Given the description of an element on the screen output the (x, y) to click on. 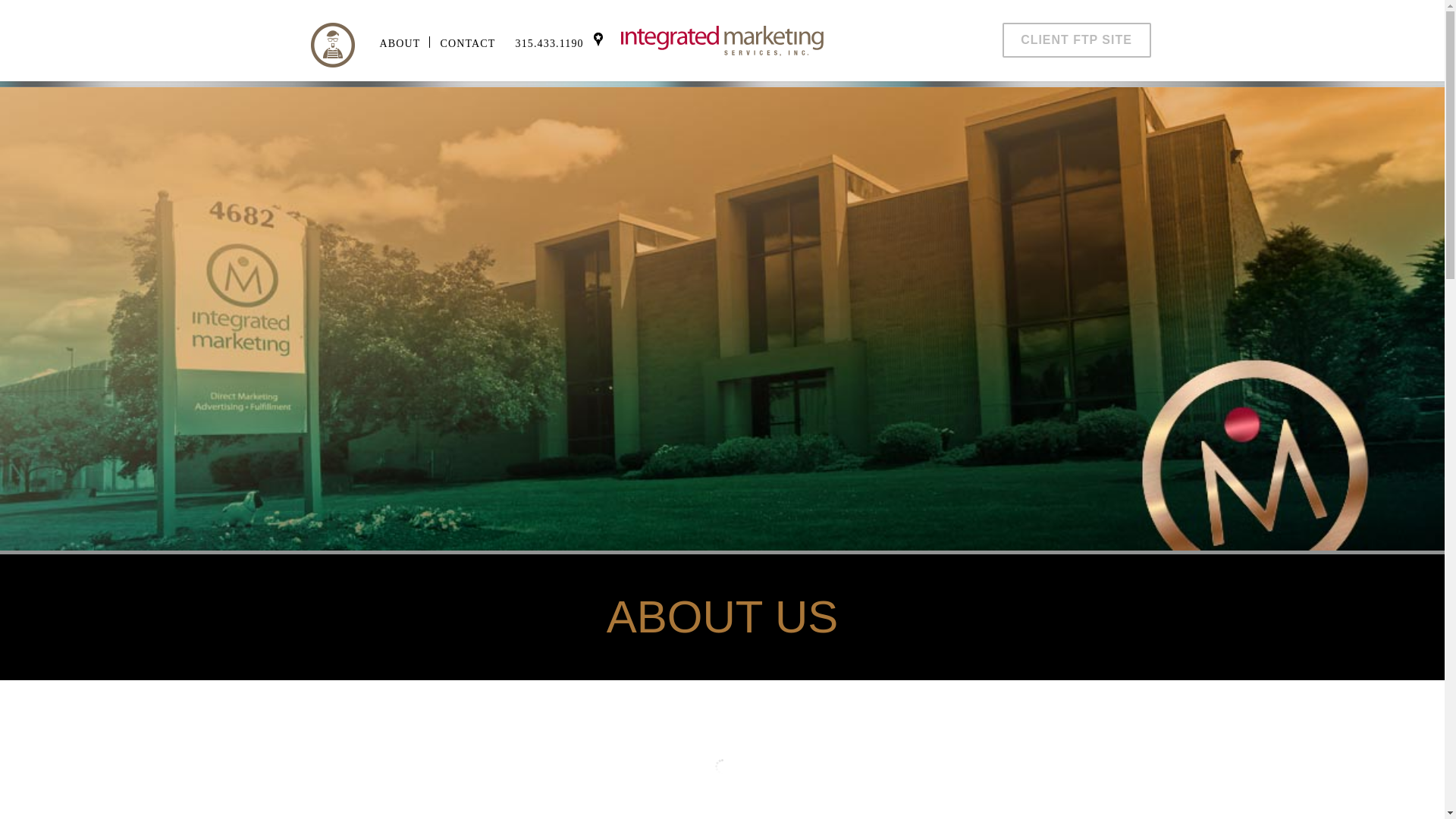
315.433.1190 (549, 43)
CONTACT (467, 43)
ABOUT (399, 43)
CLIENT FTP SITE (1077, 39)
